Given the description of an element on the screen output the (x, y) to click on. 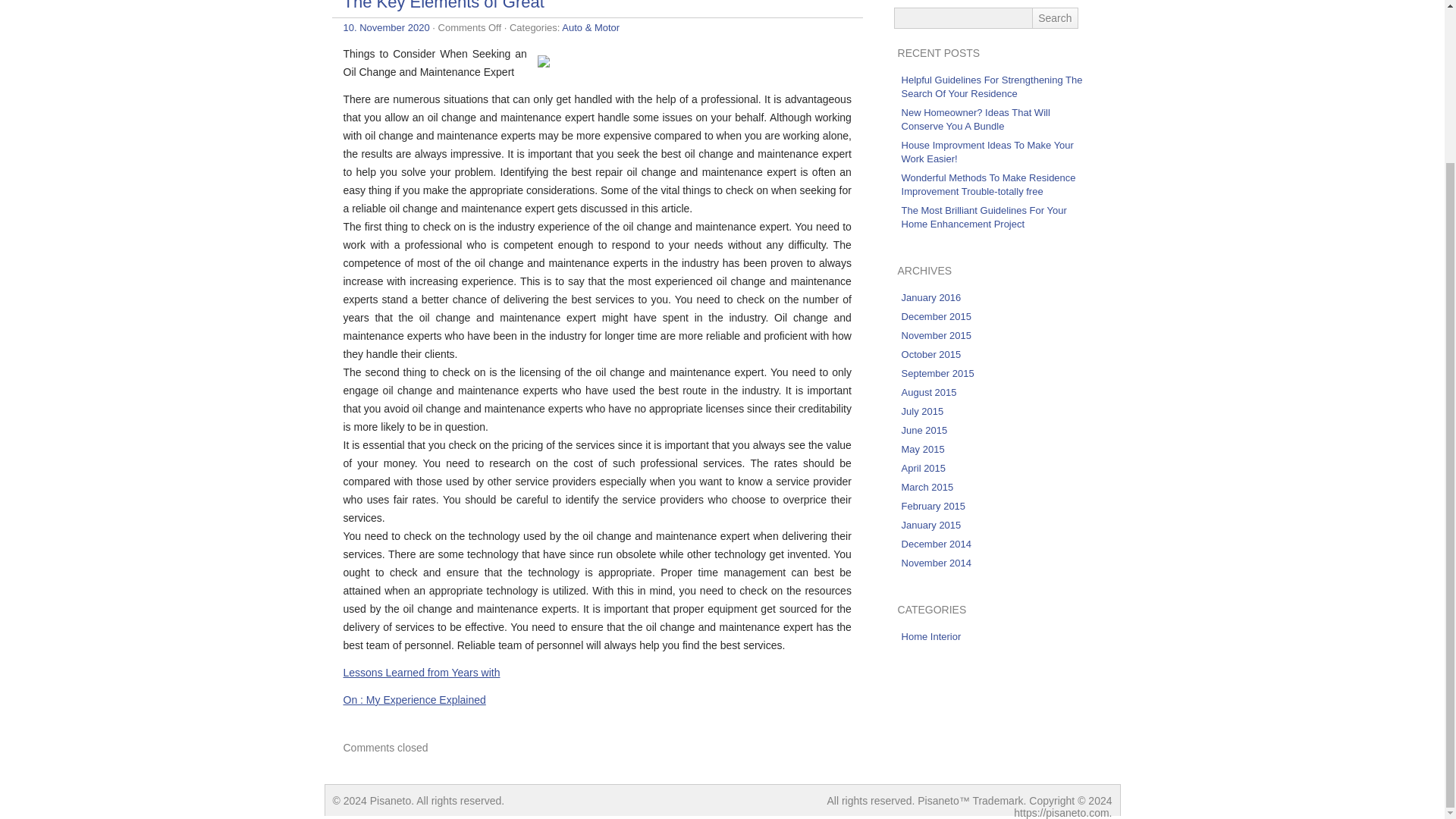
The Key Elements of Great (442, 5)
Lessons Learned from Years with (420, 672)
July 2015 (922, 410)
Search (1054, 17)
November 2014 (936, 562)
August 2015 (928, 392)
March 2015 (927, 487)
December 2015 (936, 316)
January 2016 (930, 297)
May 2015 (922, 449)
February 2015 (933, 505)
November 2015 (936, 335)
10. November 2020 (385, 27)
October 2015 (930, 354)
